Given the description of an element on the screen output the (x, y) to click on. 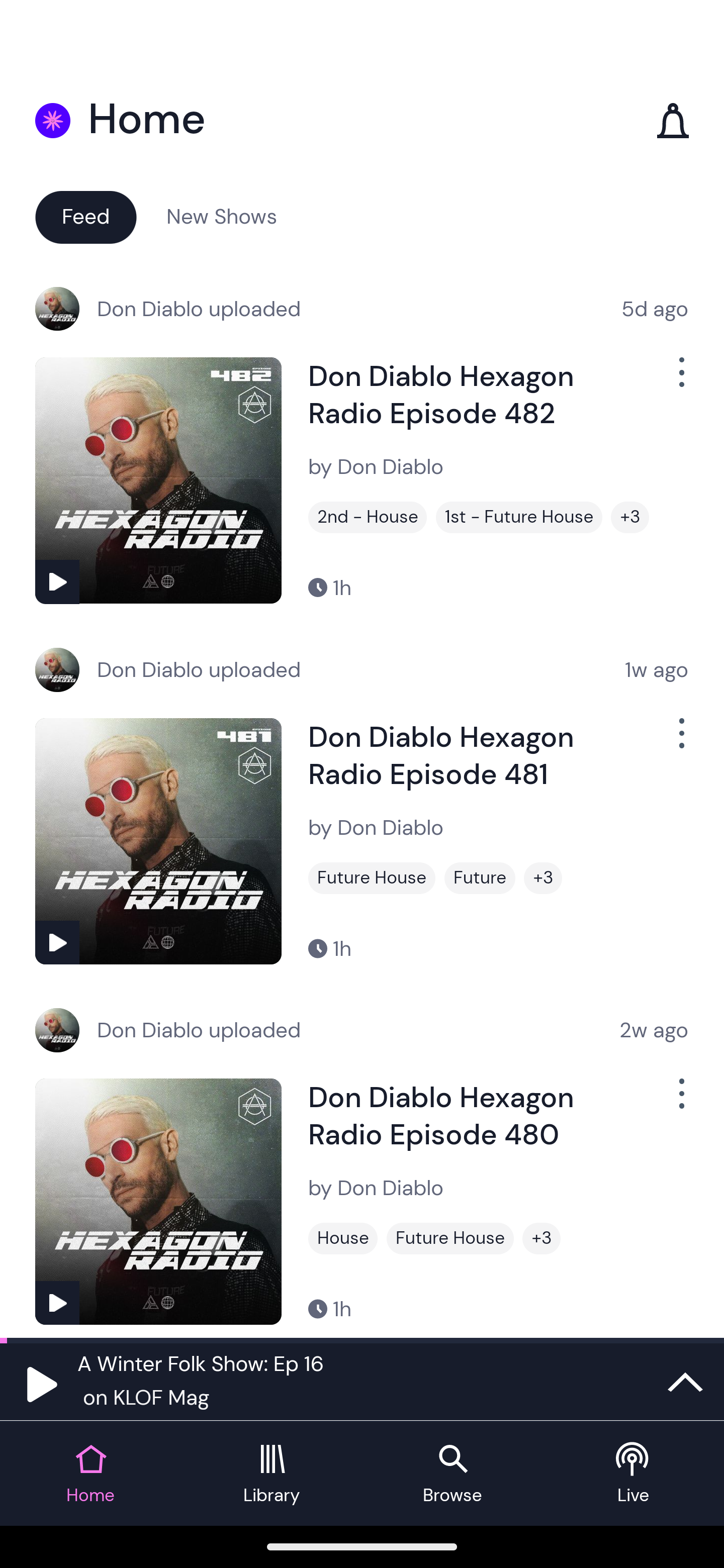
Feed (85, 216)
New Shows (221, 216)
Show Options Menu Button (679, 379)
2nd - House (367, 517)
1st - Future House (518, 517)
Show Options Menu Button (679, 740)
Future House (371, 877)
Future (479, 877)
Show Options Menu Button (679, 1101)
House (342, 1238)
Future House (450, 1238)
Home tab Home (90, 1473)
Library tab Library (271, 1473)
Browse tab Browse (452, 1473)
Live tab Live (633, 1473)
